Given the description of an element on the screen output the (x, y) to click on. 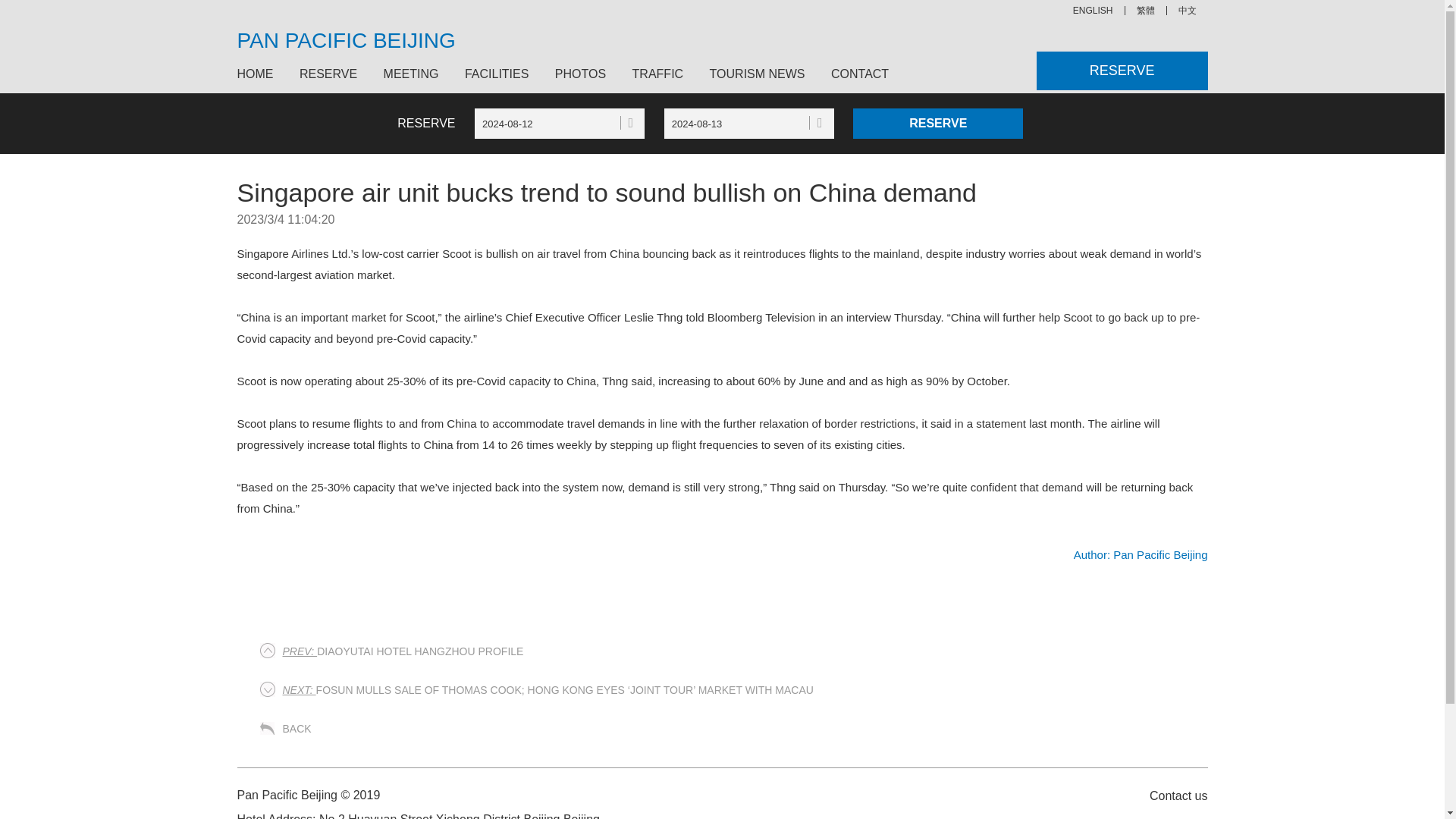
Author: Pan Pacific Beijing (1141, 554)
Pan Pacific Beijing (1141, 554)
TOURISM NEWS (757, 74)
Diaoyutai Hotel Hangzhou profile (402, 651)
ENGLISH (1093, 10)
Contact us (1170, 794)
Reserve (938, 123)
CONTACT (853, 74)
Reserve (938, 123)
Pan Pacific Beijing (1093, 10)
